Given the description of an element on the screen output the (x, y) to click on. 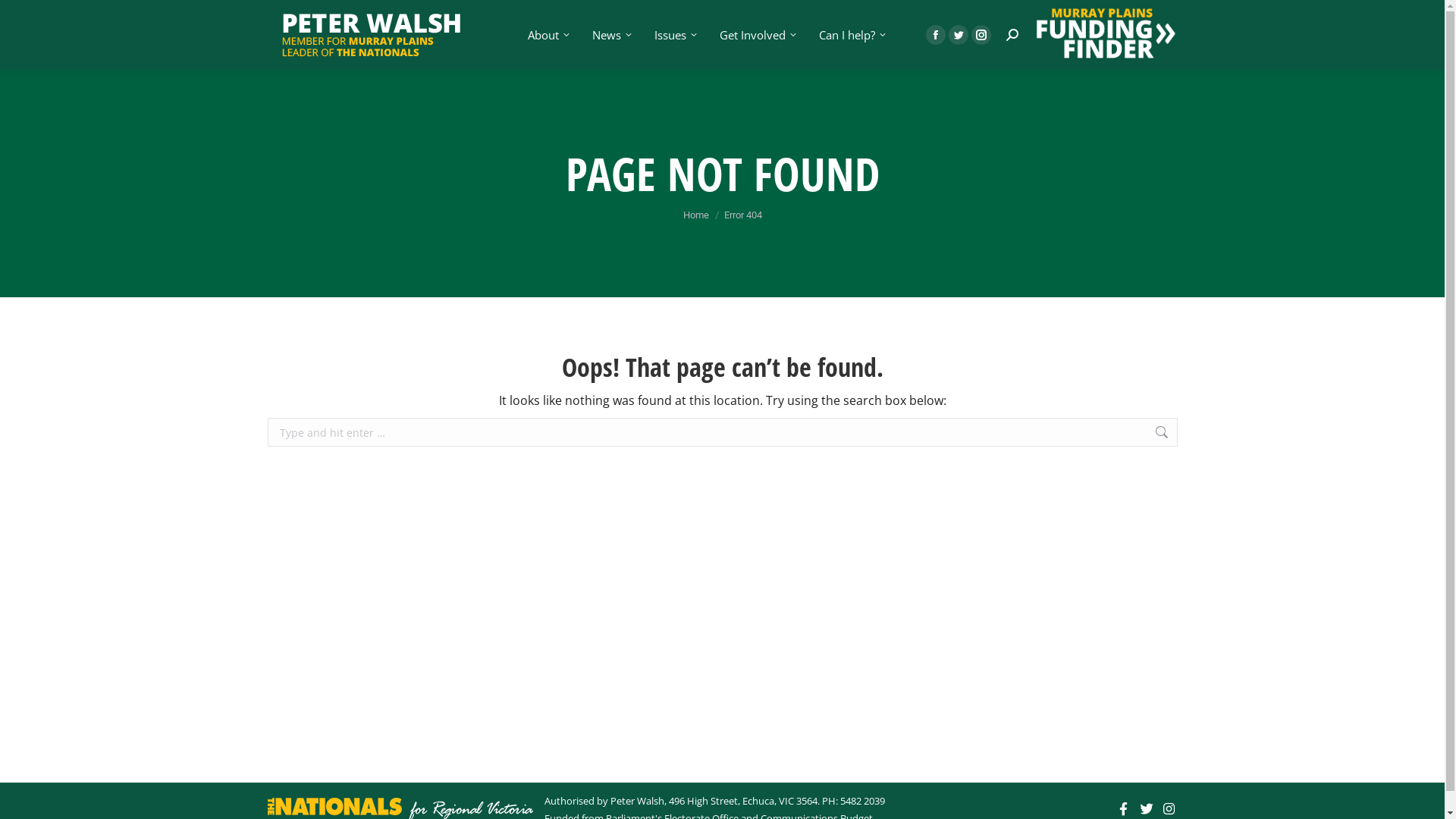
Twitter page opens in new window Element type: text (957, 33)
Can I help? Element type: text (850, 34)
News Element type: text (610, 34)
Home Element type: text (695, 214)
About Element type: text (547, 34)
Facebook page opens in new window Element type: text (934, 33)
Instagram page opens in new window Element type: text (980, 33)
Get Involved Element type: text (756, 34)
Issues Element type: text (673, 34)
Go! Element type: text (23, 16)
  Element type: text (1125, 808)
Go! Element type: text (1199, 434)
